Given the description of an element on the screen output the (x, y) to click on. 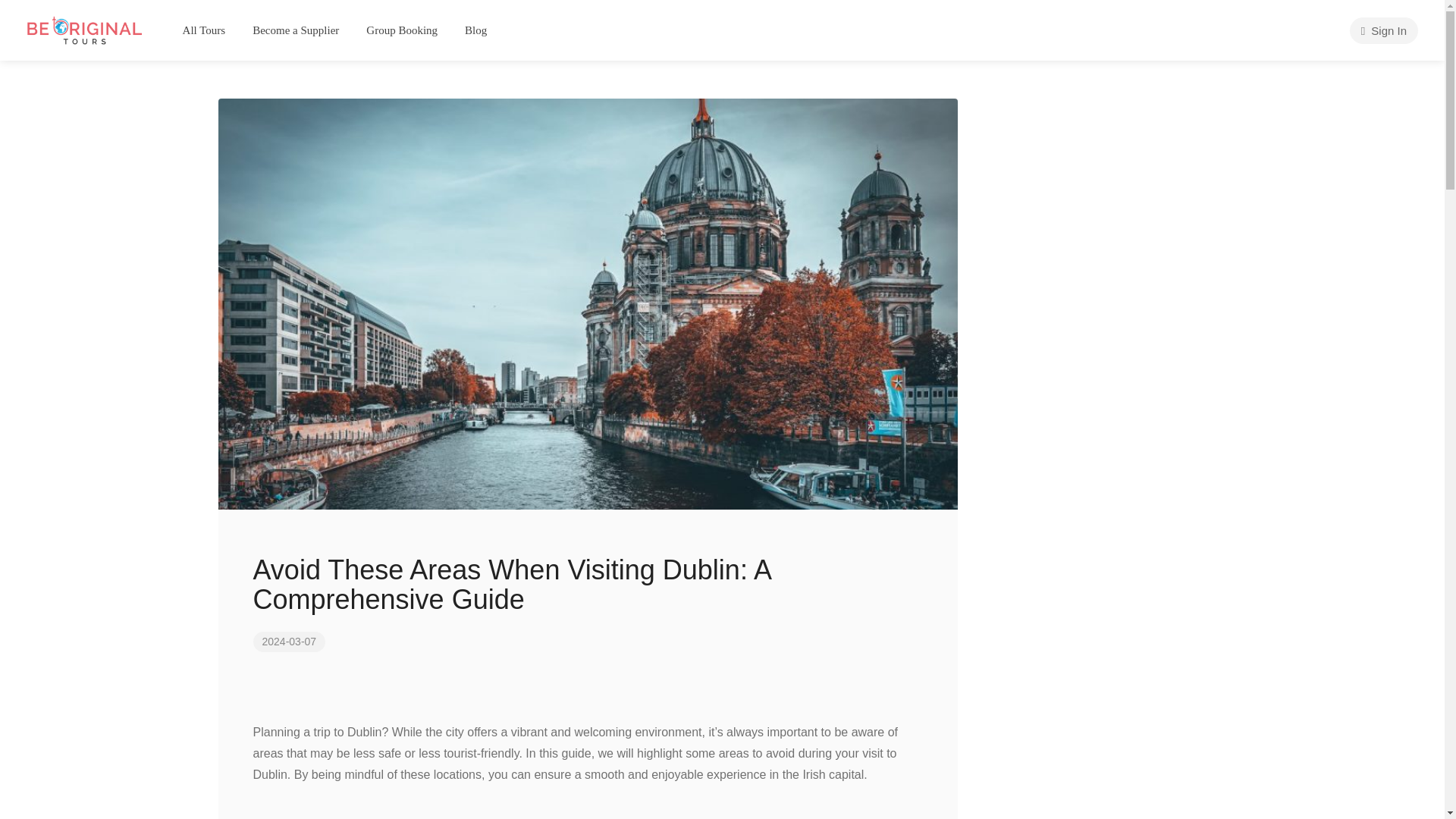
Be Original Tours (84, 29)
Blog (474, 30)
Sign In (1383, 30)
All Tours (204, 30)
Group Booking (401, 30)
Become a Supplier (295, 30)
